Given the description of an element on the screen output the (x, y) to click on. 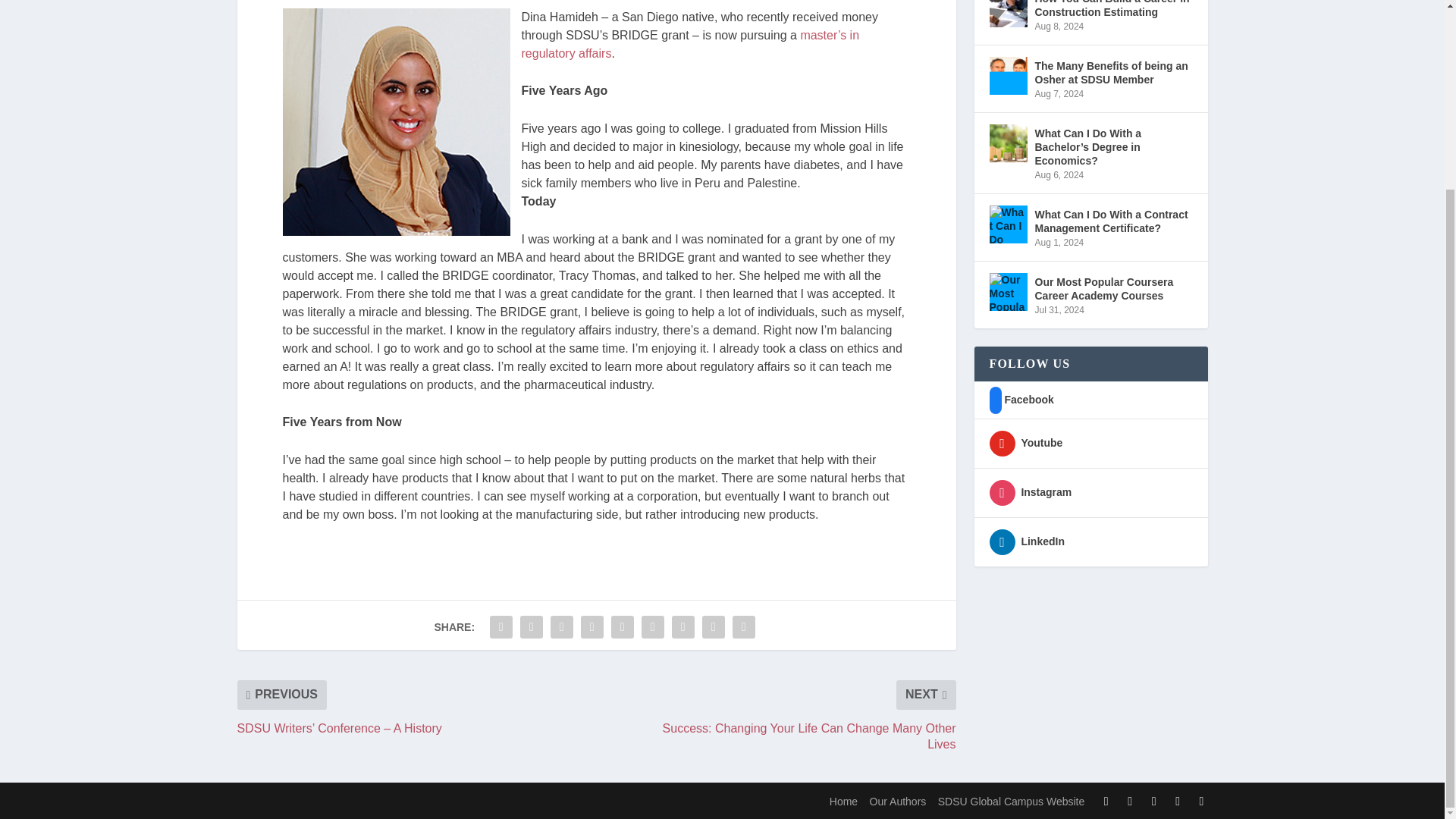
The Many Benefits of being an Osher at SDSU Member (1007, 75)
Home (843, 801)
Instagram (1029, 491)
Our Most Popular Coursera Career Academy Courses (1007, 291)
How You Can Build a Career in Construction Estimating (1007, 13)
Facebook (1020, 399)
LinkedIn (1026, 541)
Youtube (1025, 442)
How You Can Build a Career in Construction Estimating (1112, 10)
The Many Benefits of being an Osher at SDSU Member (1112, 72)
